Given the description of an element on the screen output the (x, y) to click on. 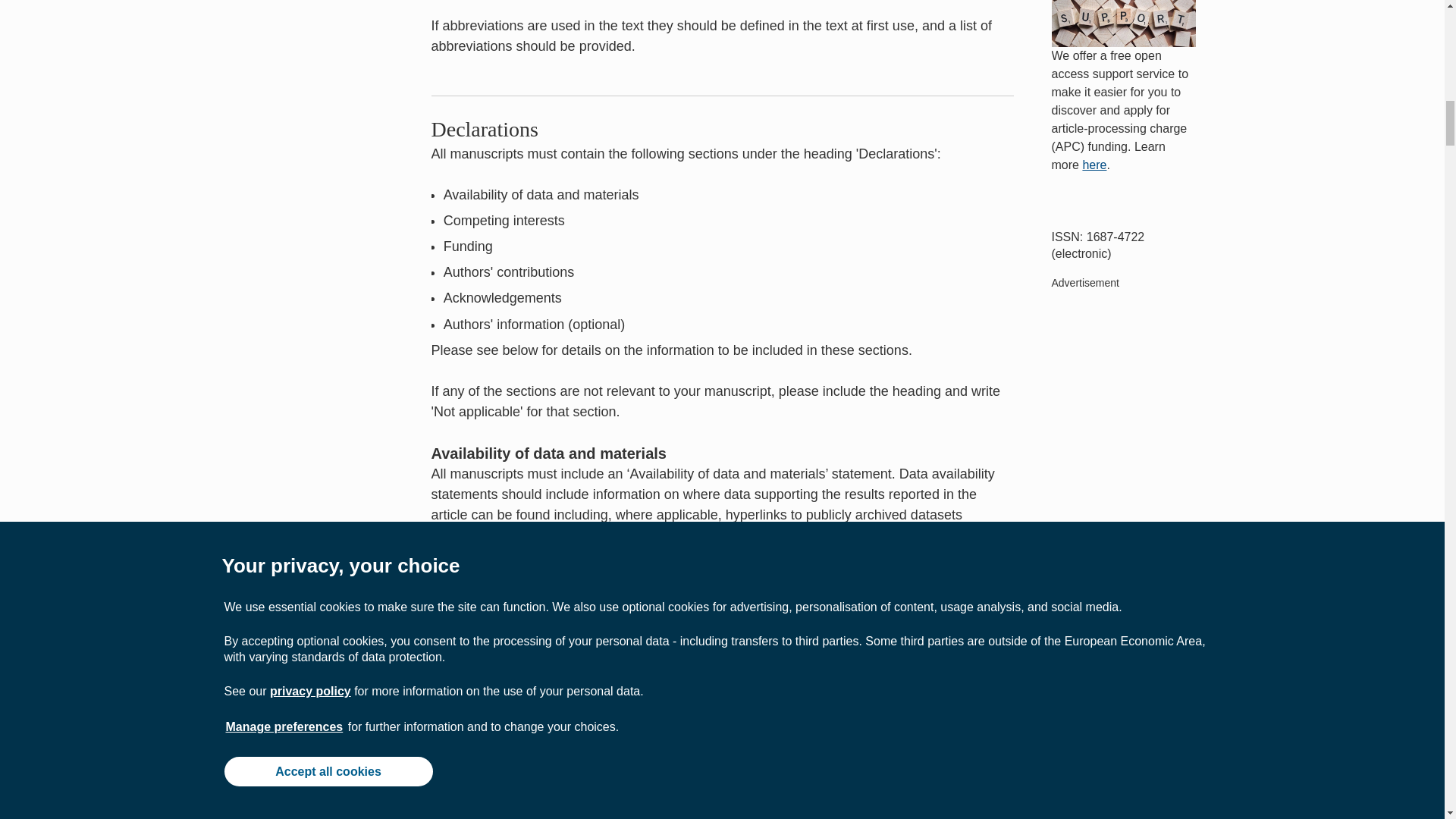
Open access funding and policy support by SpringerOpen (1123, 23)
